Given the description of an element on the screen output the (x, y) to click on. 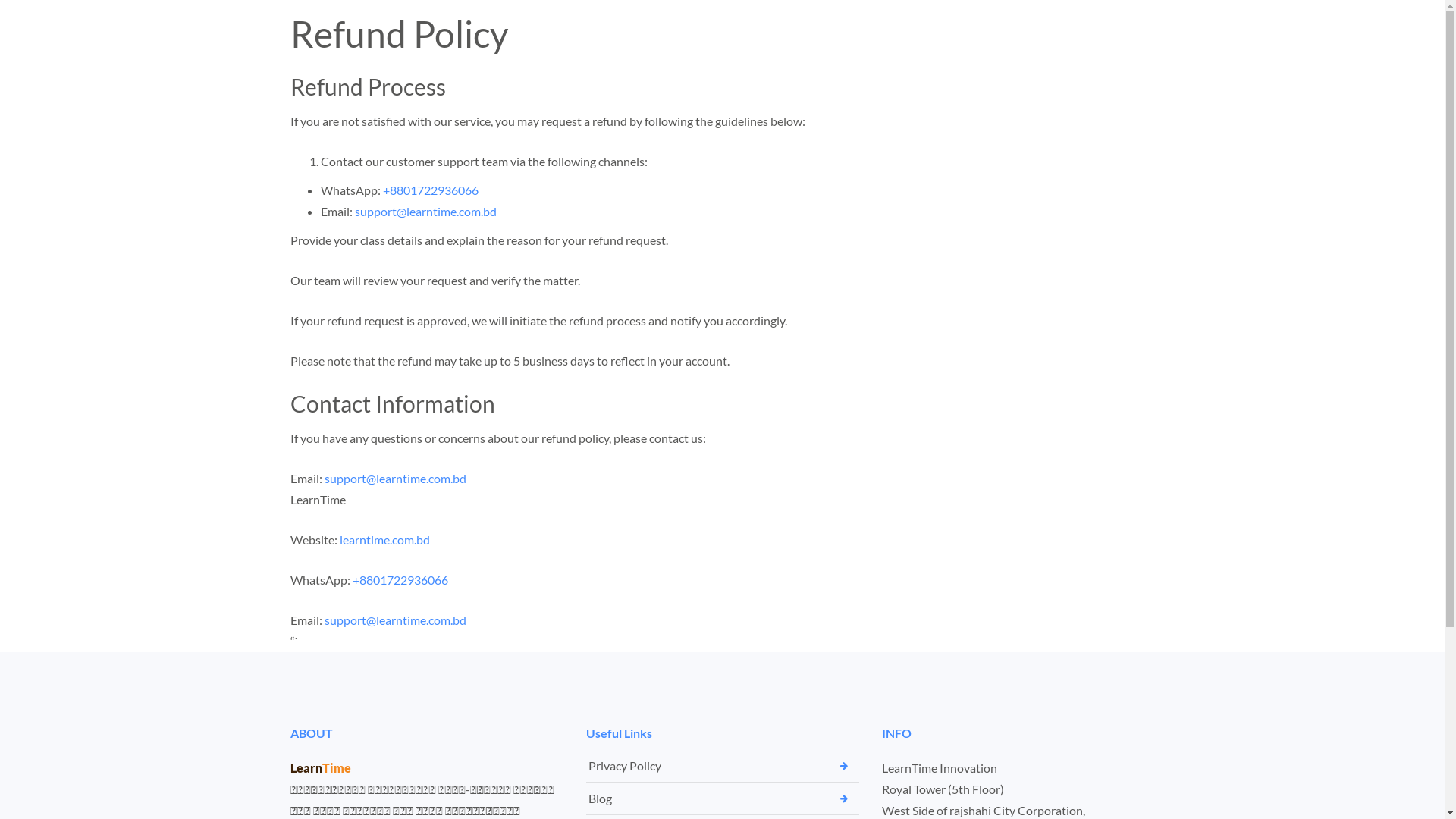
Blog Element type: text (600, 798)
+8801722936066 Element type: text (399, 579)
+8801722936066 Element type: text (429, 189)
Privacy Policy Element type: text (624, 765)
support@learntime.com.bd Element type: text (395, 619)
support@learntime.com.bd Element type: text (425, 210)
support@learntime.com.bd Element type: text (395, 477)
learntime.com.bd Element type: text (384, 539)
